Given the description of an element on the screen output the (x, y) to click on. 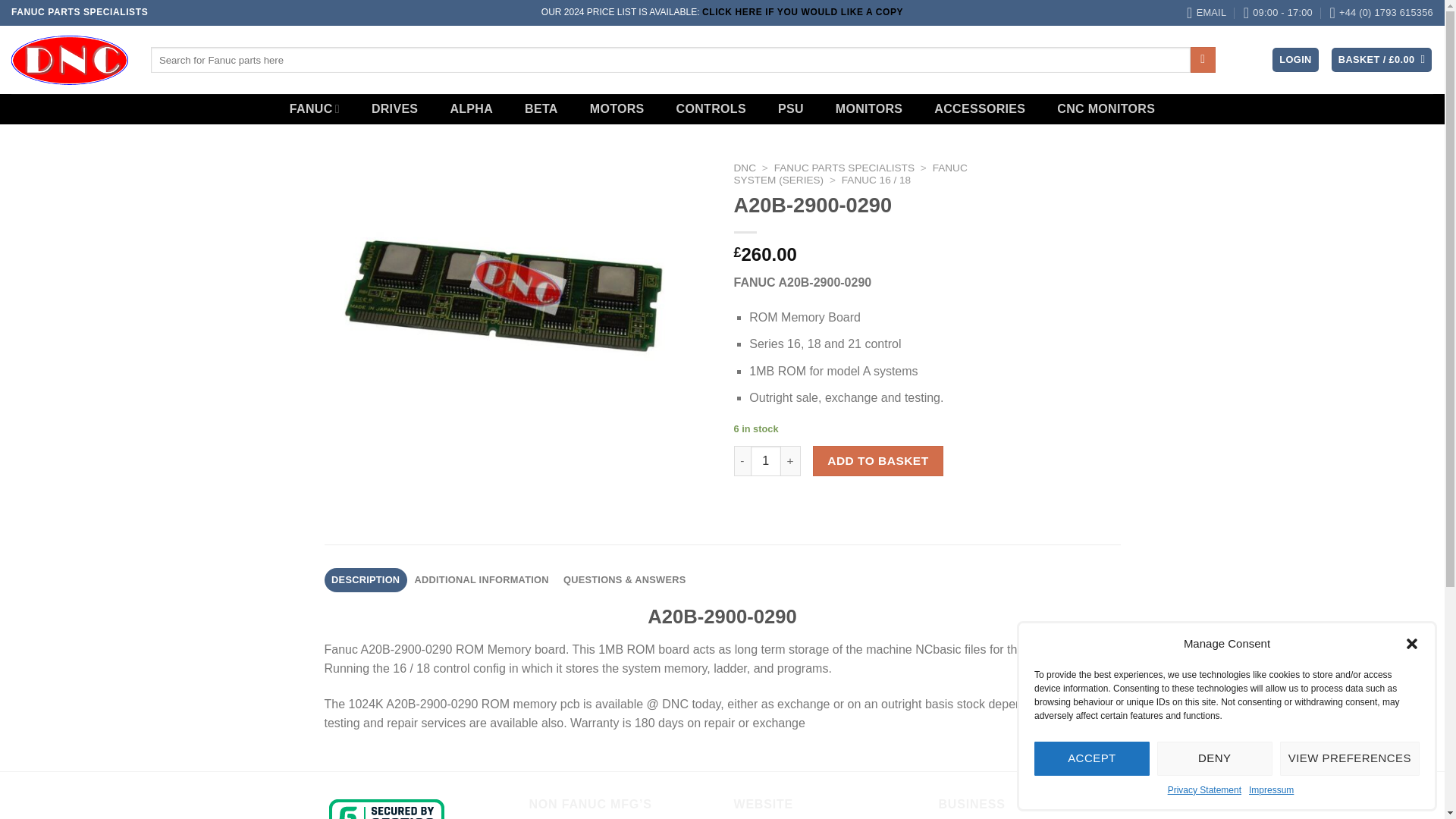
ACCESSORIES (978, 109)
PSU (790, 109)
1 (765, 460)
DRIVES (395, 109)
09:00 - 17:00 (1278, 12)
EMAIL (1205, 12)
ACCEPT (1091, 758)
DENY (1214, 758)
DNC (744, 167)
Impressum (1271, 789)
- (742, 460)
MOTORS (616, 109)
CONTROLS (710, 109)
DNC - Independent FANUC CNC specialists (69, 59)
LOGIN (1294, 59)
